Given the description of an element on the screen output the (x, y) to click on. 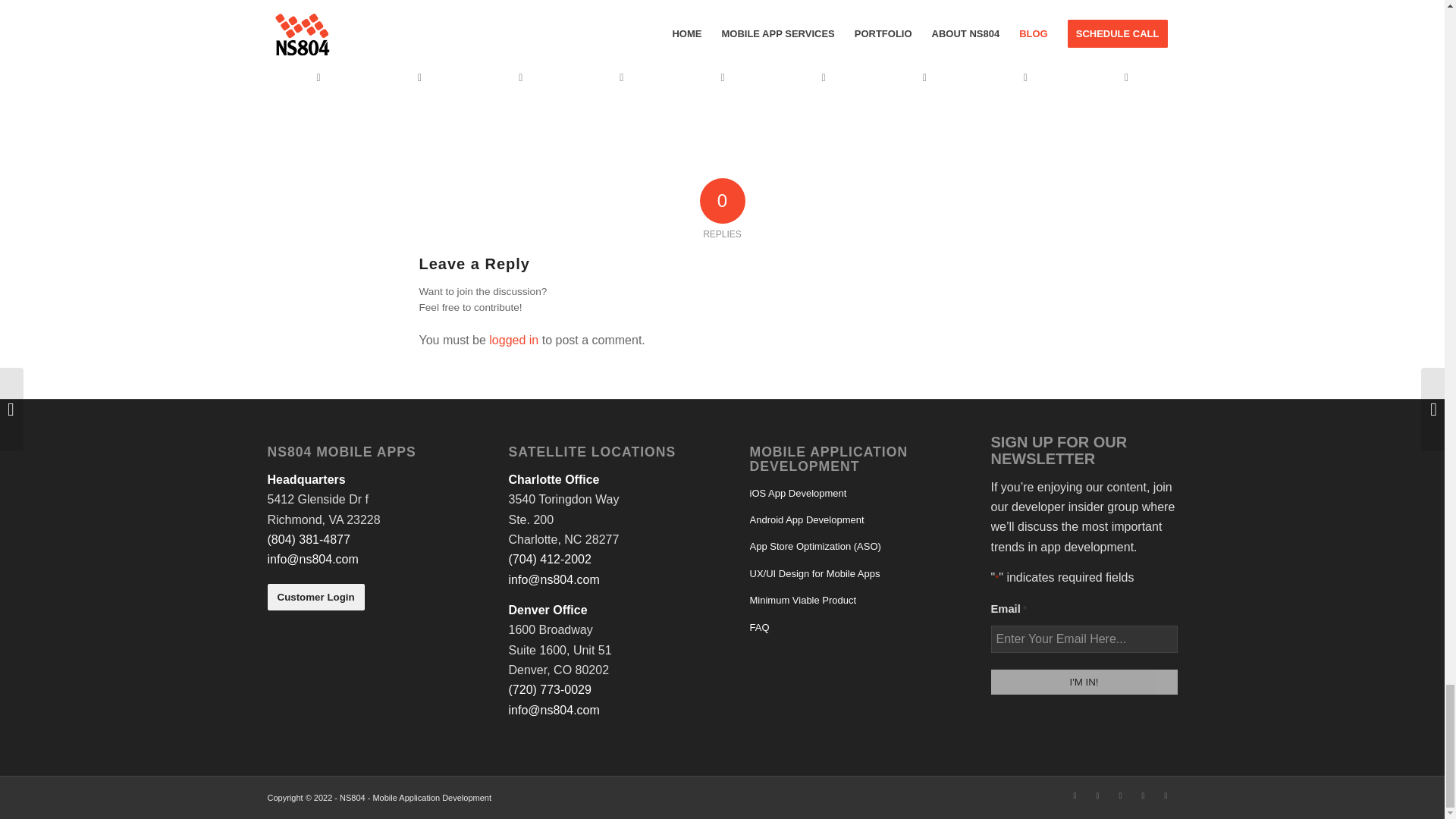
I'M IN! (1083, 681)
Facebook (1097, 794)
Instagram (1119, 794)
LinkedIn (1074, 794)
